Given the description of an element on the screen output the (x, y) to click on. 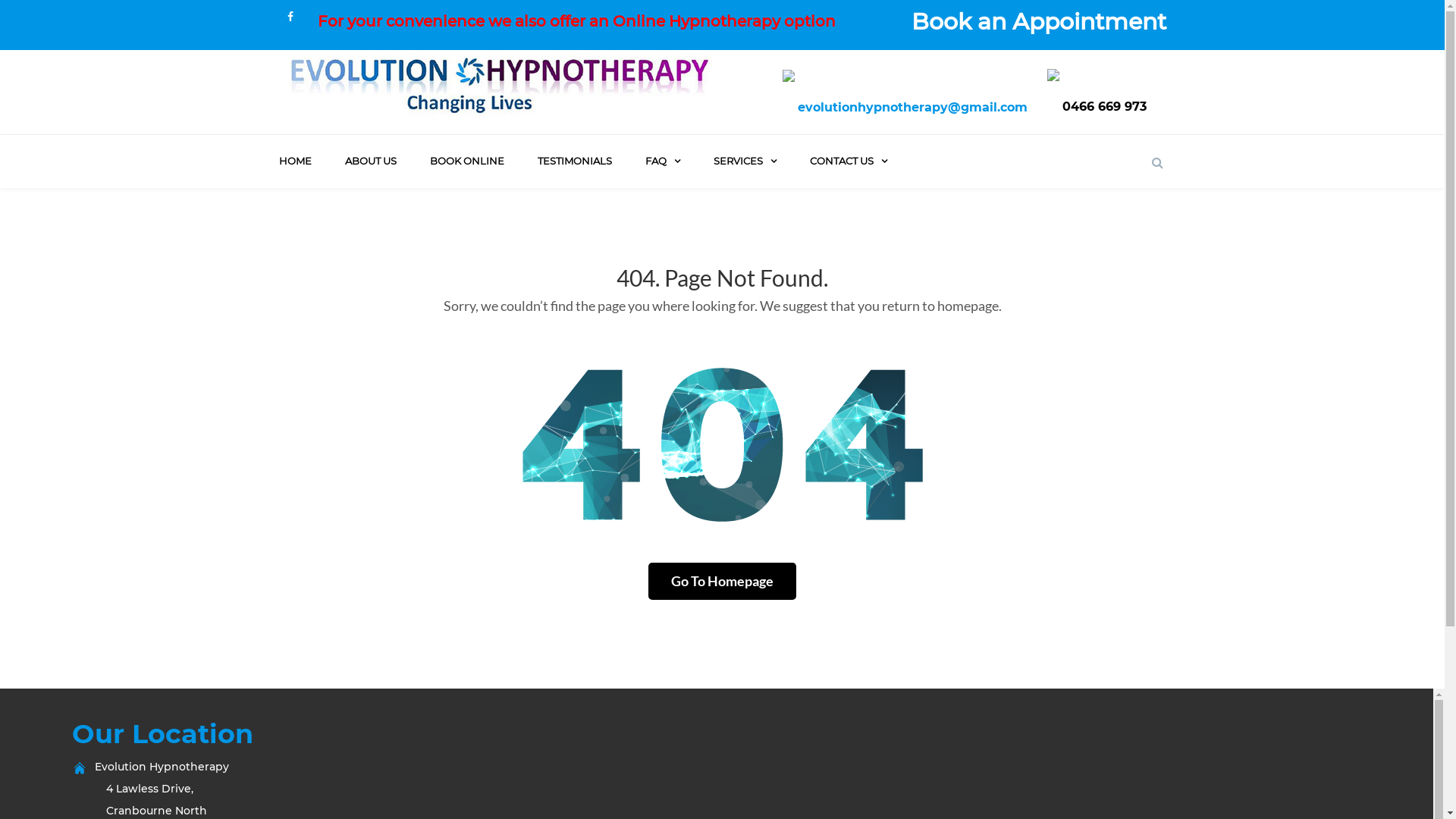
Go To Homepage Element type: text (722, 580)
TESTIMONIALS Element type: text (573, 160)
FAQ Element type: text (661, 160)
ABOUT US Element type: text (369, 160)
SERVICES Element type: text (743, 160)
evolutionhypnotherapy@gmail.com Element type: text (912, 107)
Hypnotherapy Berwick Element type: hover (499, 84)
0466 669 973 Element type: text (1103, 107)
Book an Appointment Element type: text (1038, 21)
HOME Element type: text (295, 160)
BOOK ONLINE Element type: text (466, 160)
CONTACT US Element type: text (848, 160)
